Given the description of an element on the screen output the (x, y) to click on. 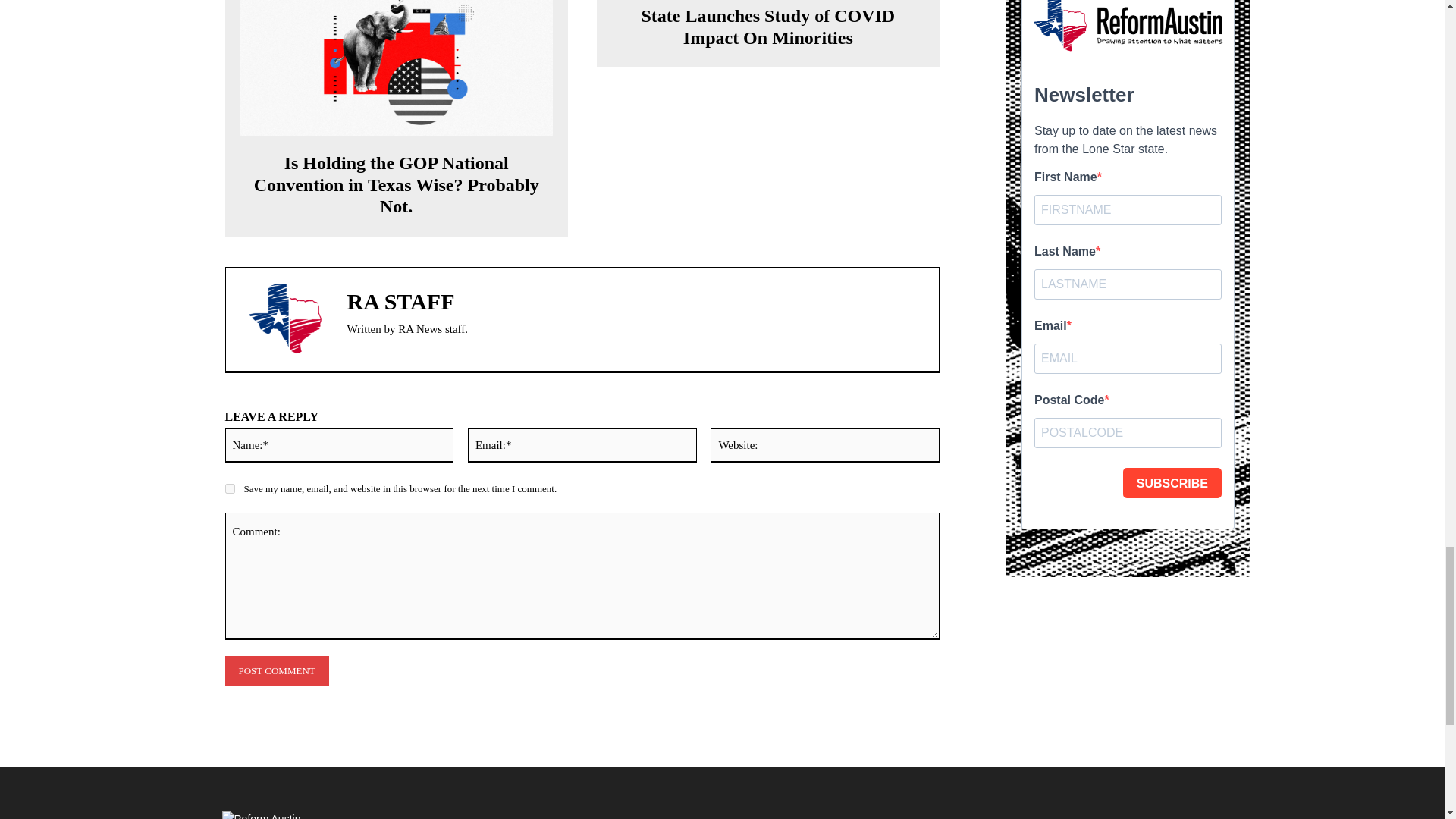
Post Comment (276, 670)
yes (229, 488)
